Given the description of an element on the screen output the (x, y) to click on. 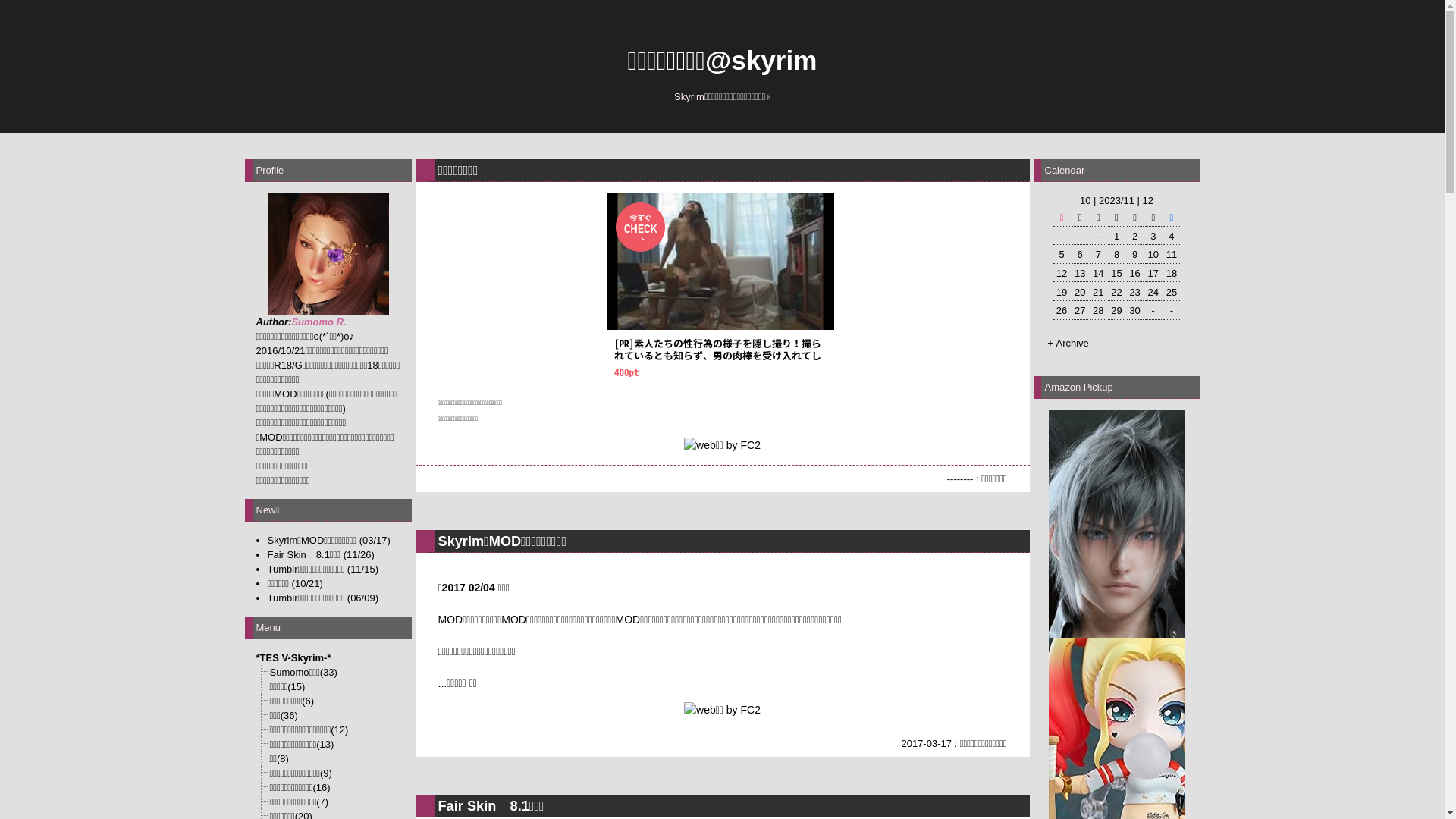
Archive Element type: text (1071, 342)
12 Element type: text (1147, 200)
10 Element type: text (1084, 200)
